Given the description of an element on the screen output the (x, y) to click on. 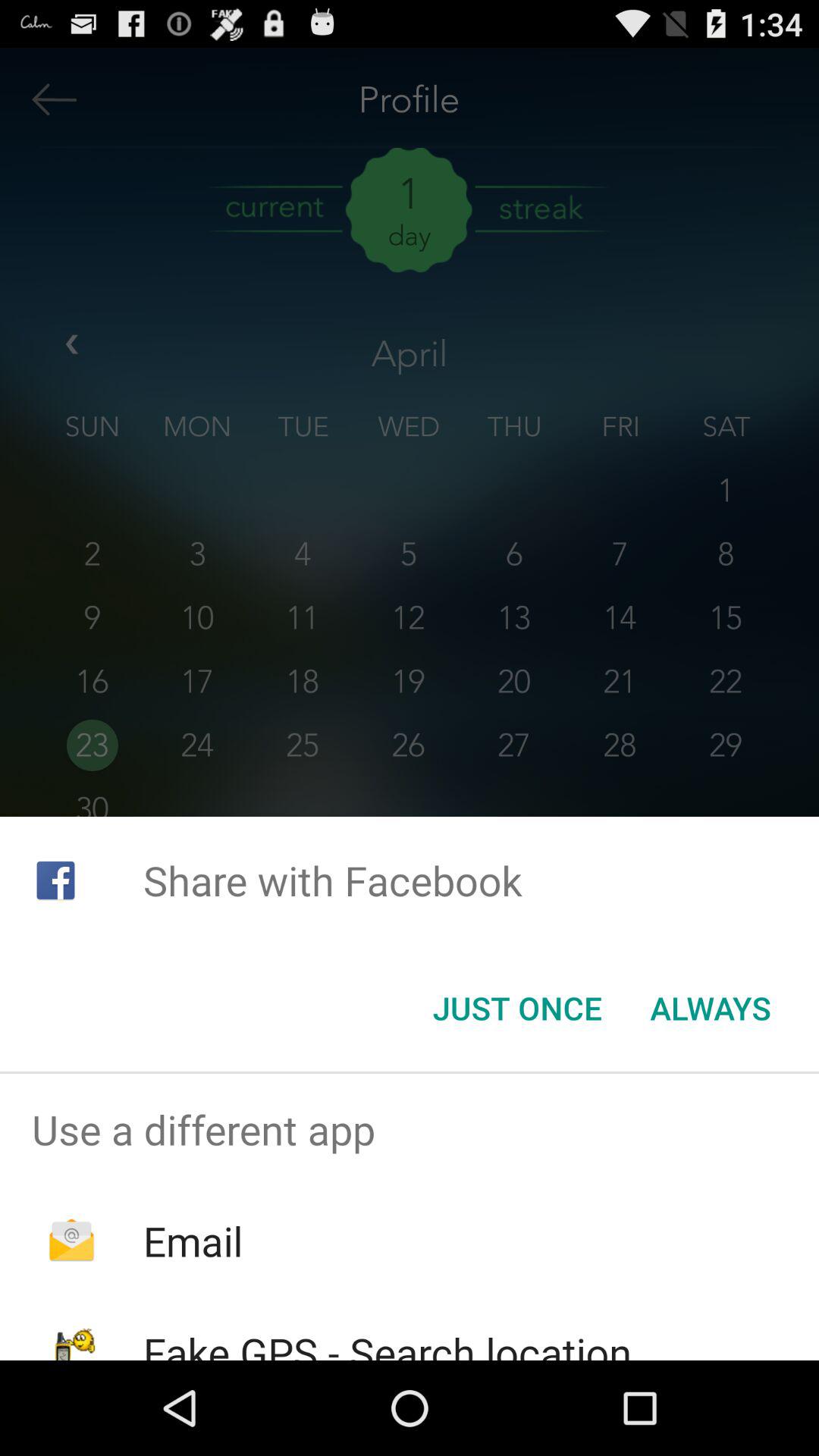
turn off the fake gps search (387, 1342)
